Given the description of an element on the screen output the (x, y) to click on. 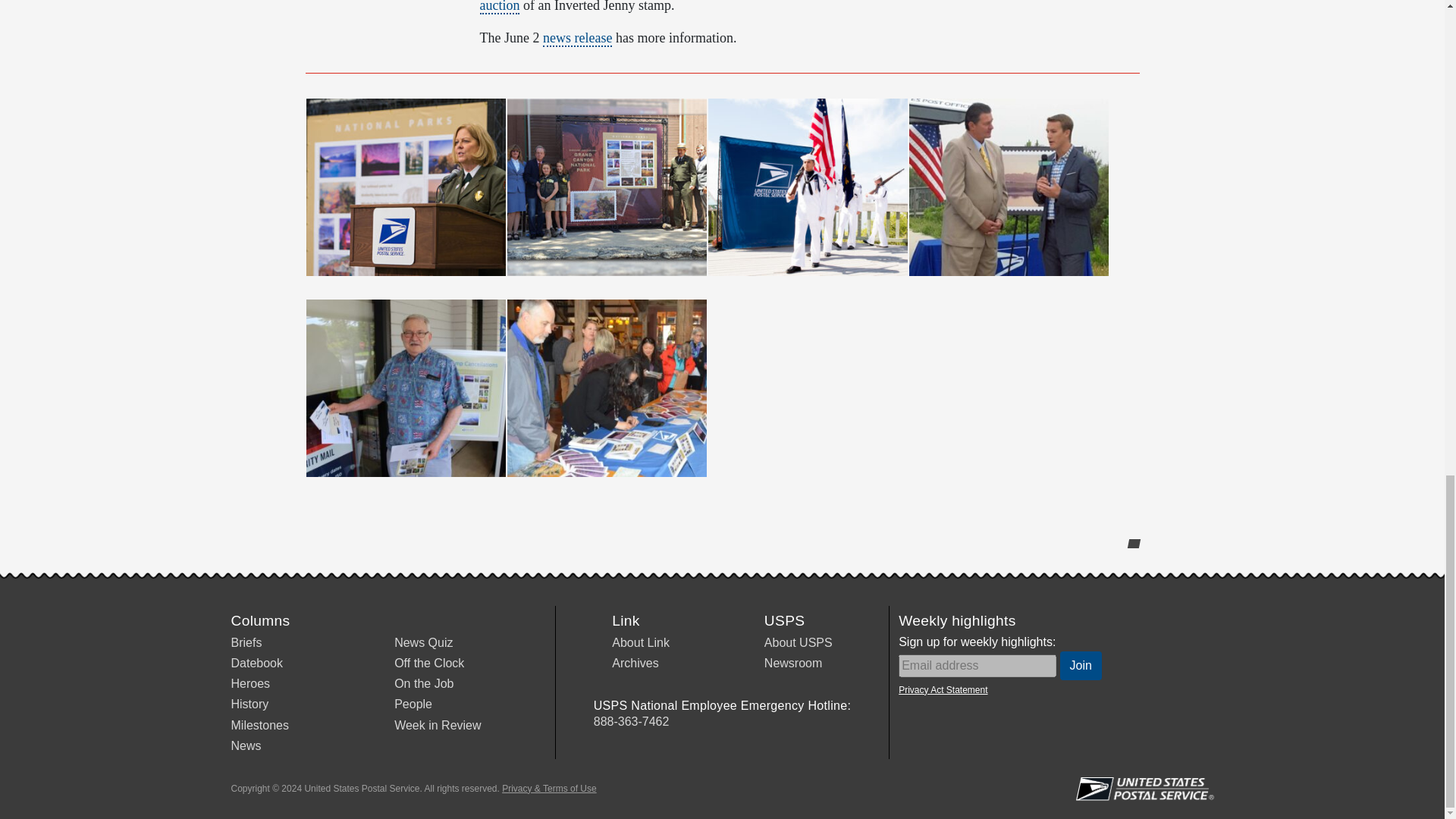
news release (577, 38)
Join (1080, 665)
auction (499, 7)
Briefs (246, 642)
History (248, 703)
Heroes (249, 683)
Datebook (256, 662)
